Given the description of an element on the screen output the (x, y) to click on. 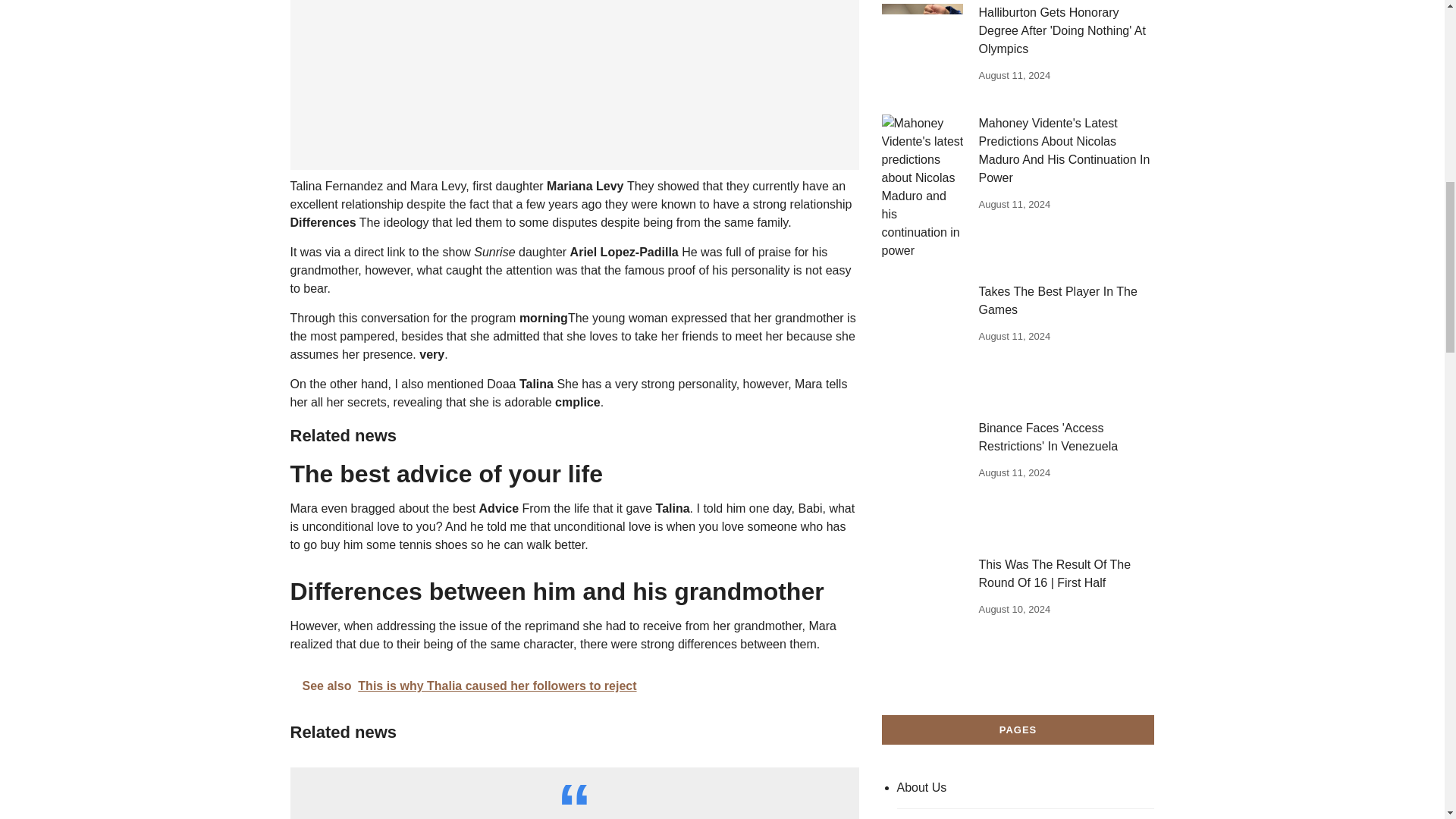
Advertisement (574, 84)
See also  This is why Thalia caused her followers to reject (574, 686)
